Given the description of an element on the screen output the (x, y) to click on. 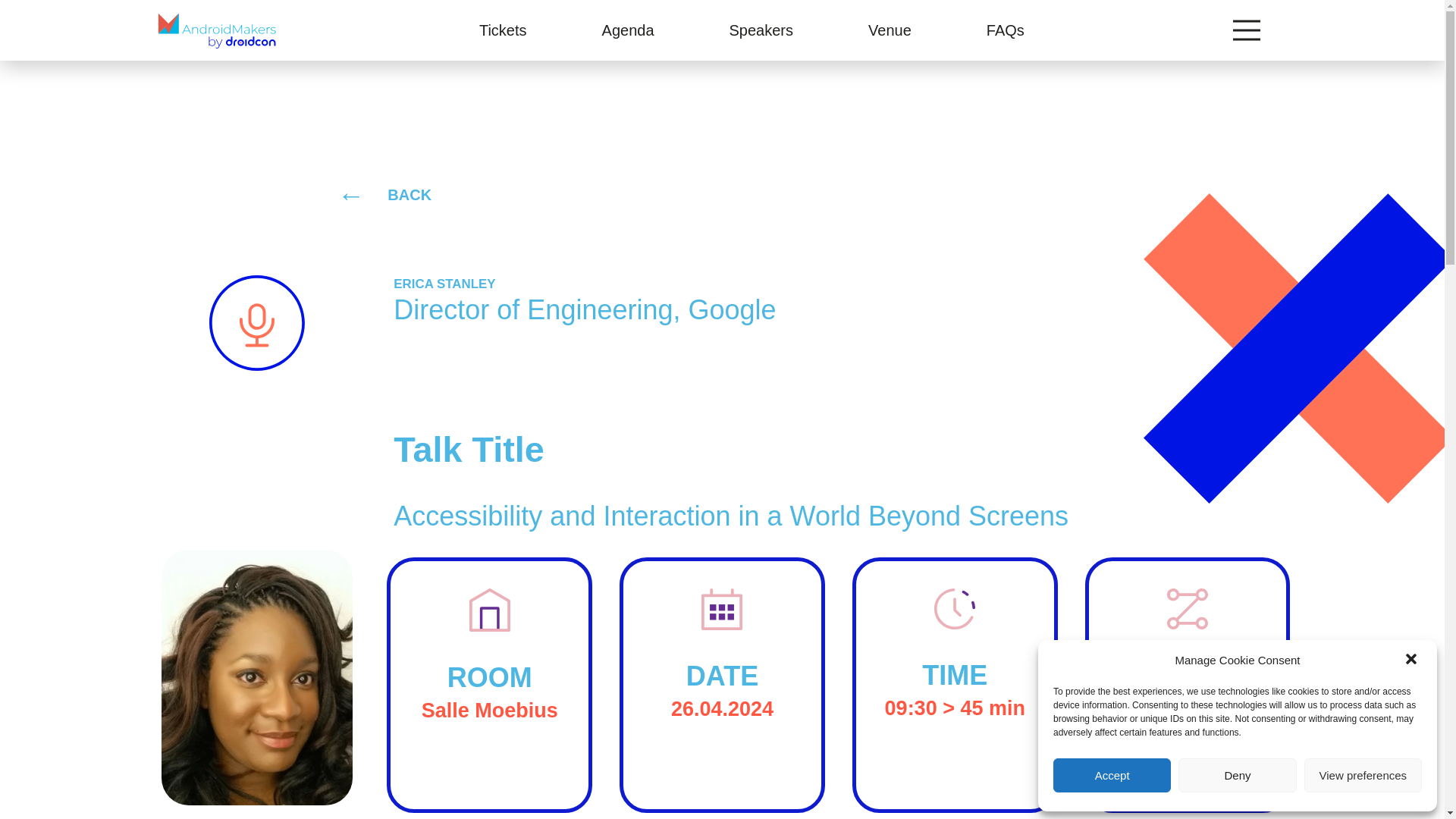
View preferences (1363, 775)
on Twitter (1188, 707)
FAQs (1005, 30)
Tickets (502, 30)
Accept (1111, 775)
BACK (419, 194)
Agenda (627, 30)
Venue (889, 30)
Speakers (761, 30)
Deny (1236, 775)
